Given the description of an element on the screen output the (x, y) to click on. 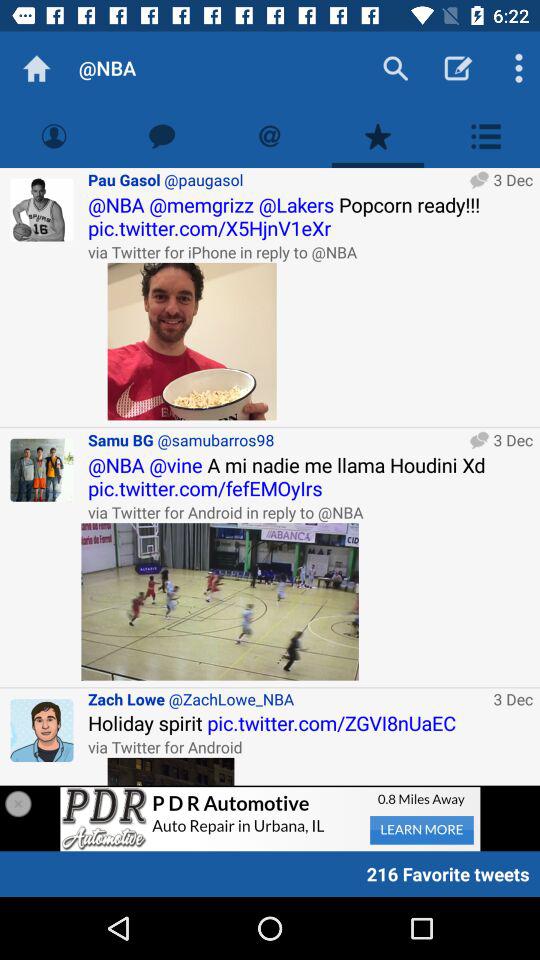
click the holiday spirit pic item (310, 722)
